Given the description of an element on the screen output the (x, y) to click on. 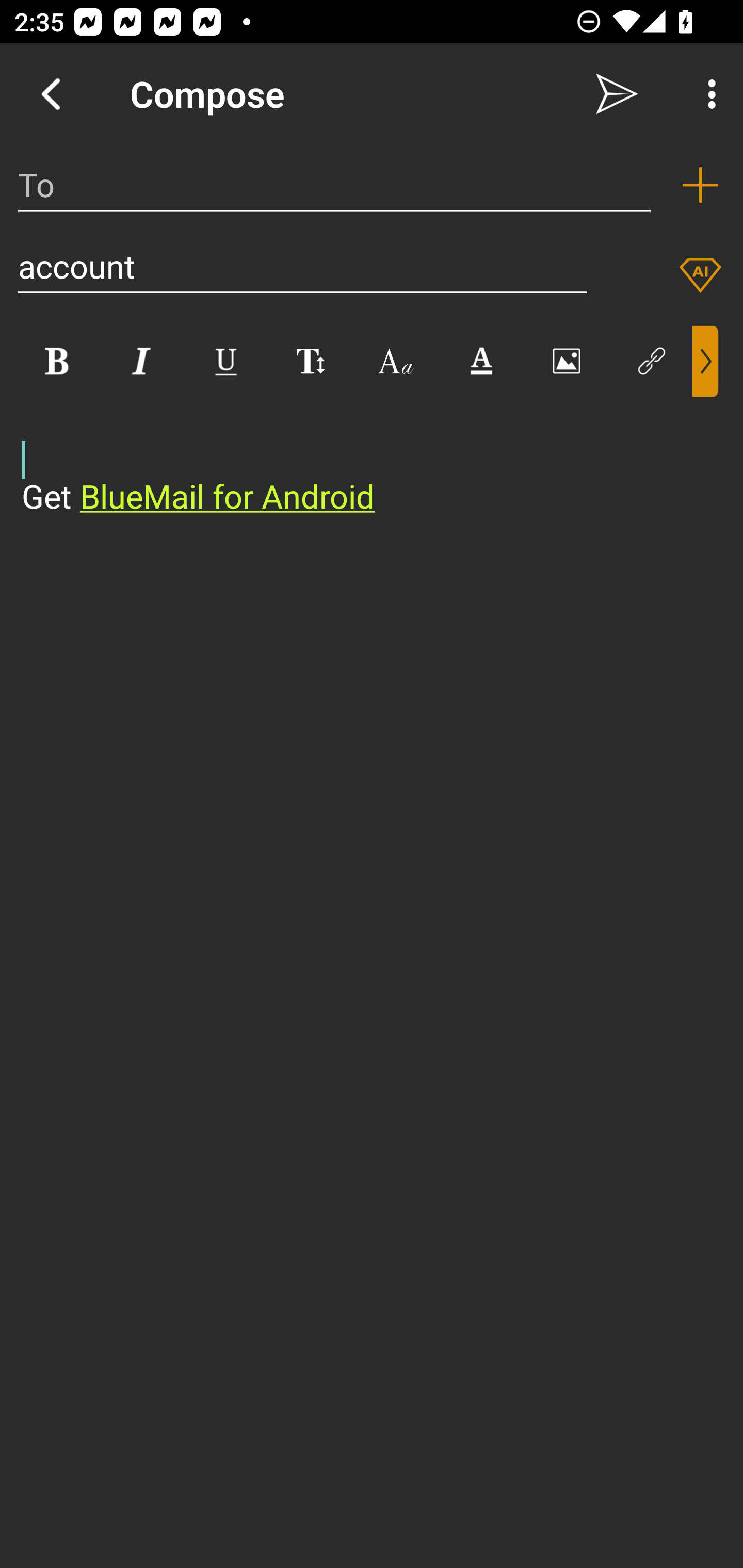
Navigate up (50, 93)
Send (616, 93)
More Options (706, 93)
To (334, 184)
Add recipient (To) (699, 184)
account (302, 266)


⁣Get BlueMail for Android ​ (355, 457)
